Given the description of an element on the screen output the (x, y) to click on. 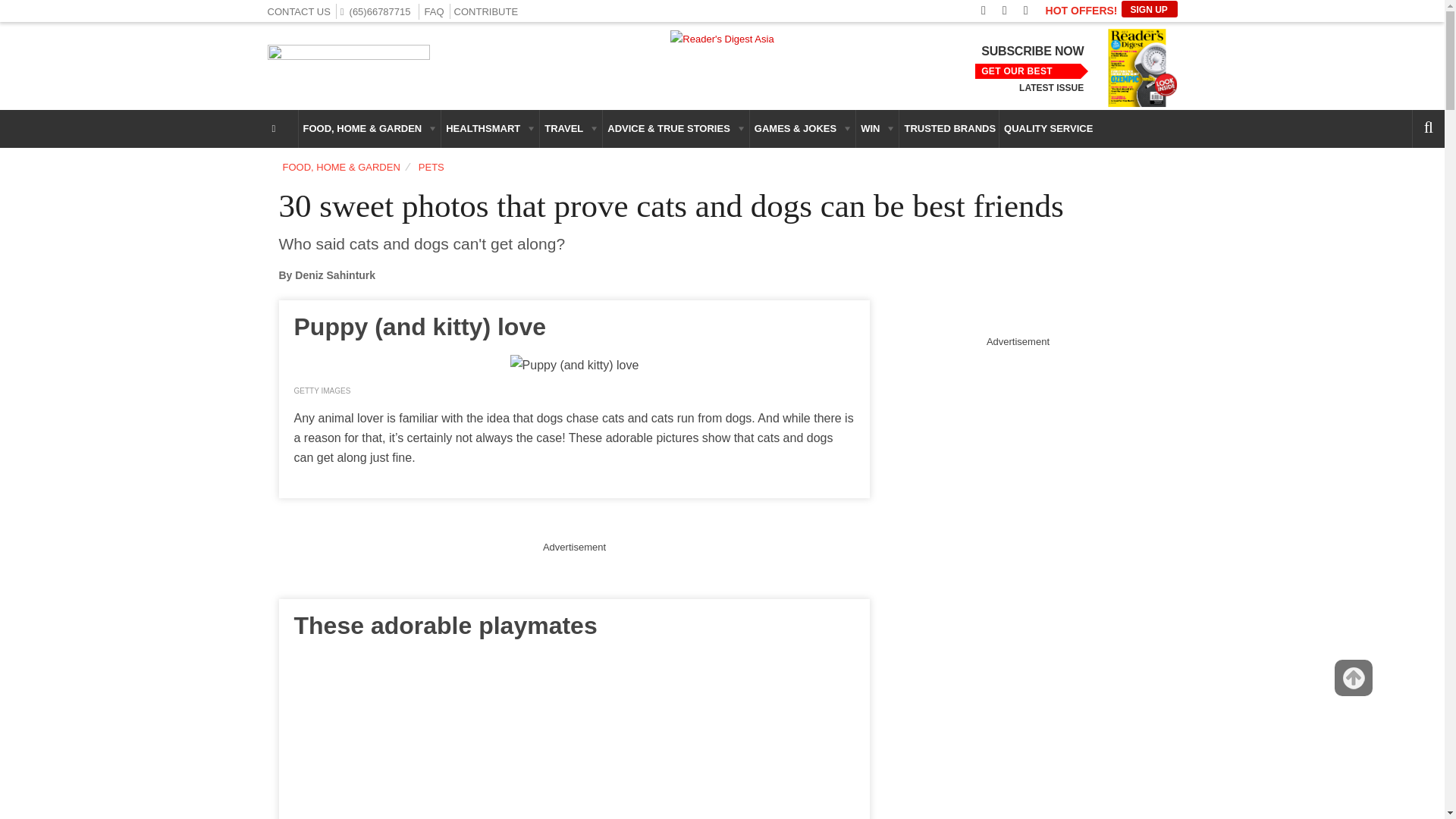
FAQ (434, 11)
CONTRIBUTE (486, 11)
LATEST ISSUE (1051, 87)
SUBSCRIBE NOW (1032, 51)
CONTACT US (298, 11)
HEALTHSMART (489, 128)
TRAVEL (571, 128)
SIGN UP (1148, 8)
